Given the description of an element on the screen output the (x, y) to click on. 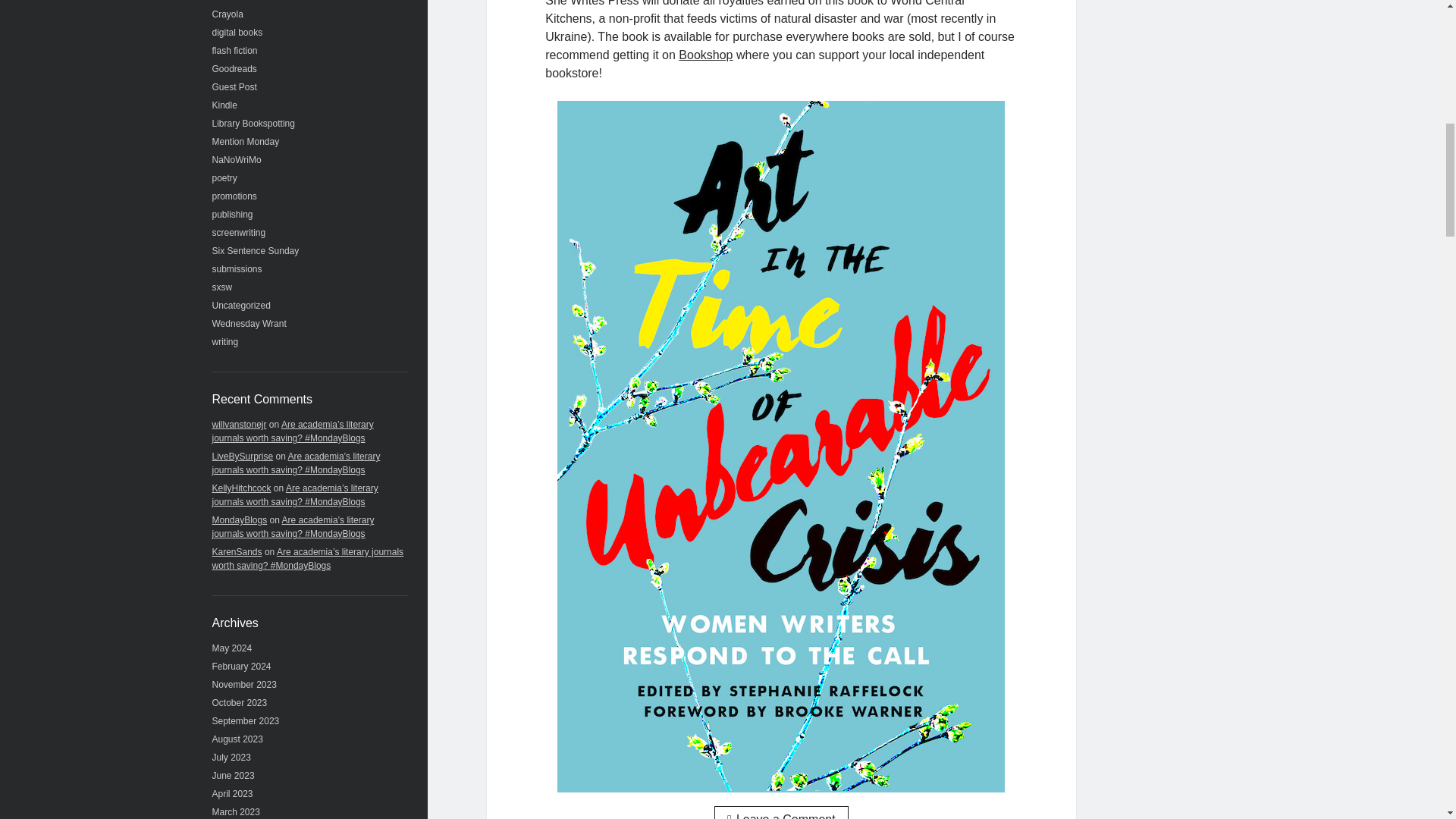
digital books (237, 32)
Book Review (238, 0)
Guest Post (234, 86)
flash fiction (234, 50)
Crayola (227, 14)
Goodreads (234, 68)
comment icon (731, 816)
